Given the description of an element on the screen output the (x, y) to click on. 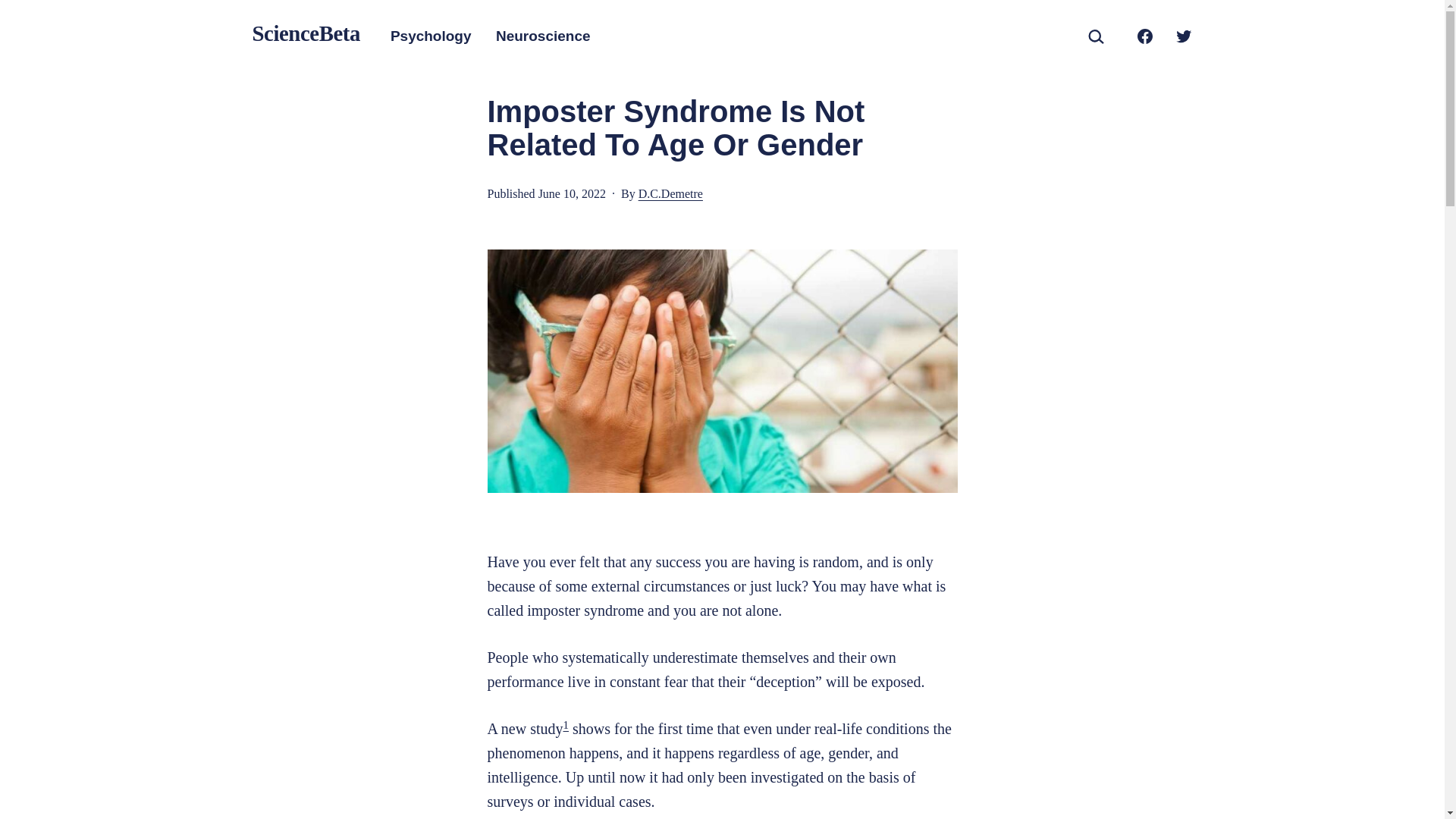
Neuroscience (542, 36)
Twitter (1182, 35)
Psychology (430, 36)
D.C.Demetre (671, 193)
Facebook (1144, 35)
ScienceBeta (305, 33)
